Given the description of an element on the screen output the (x, y) to click on. 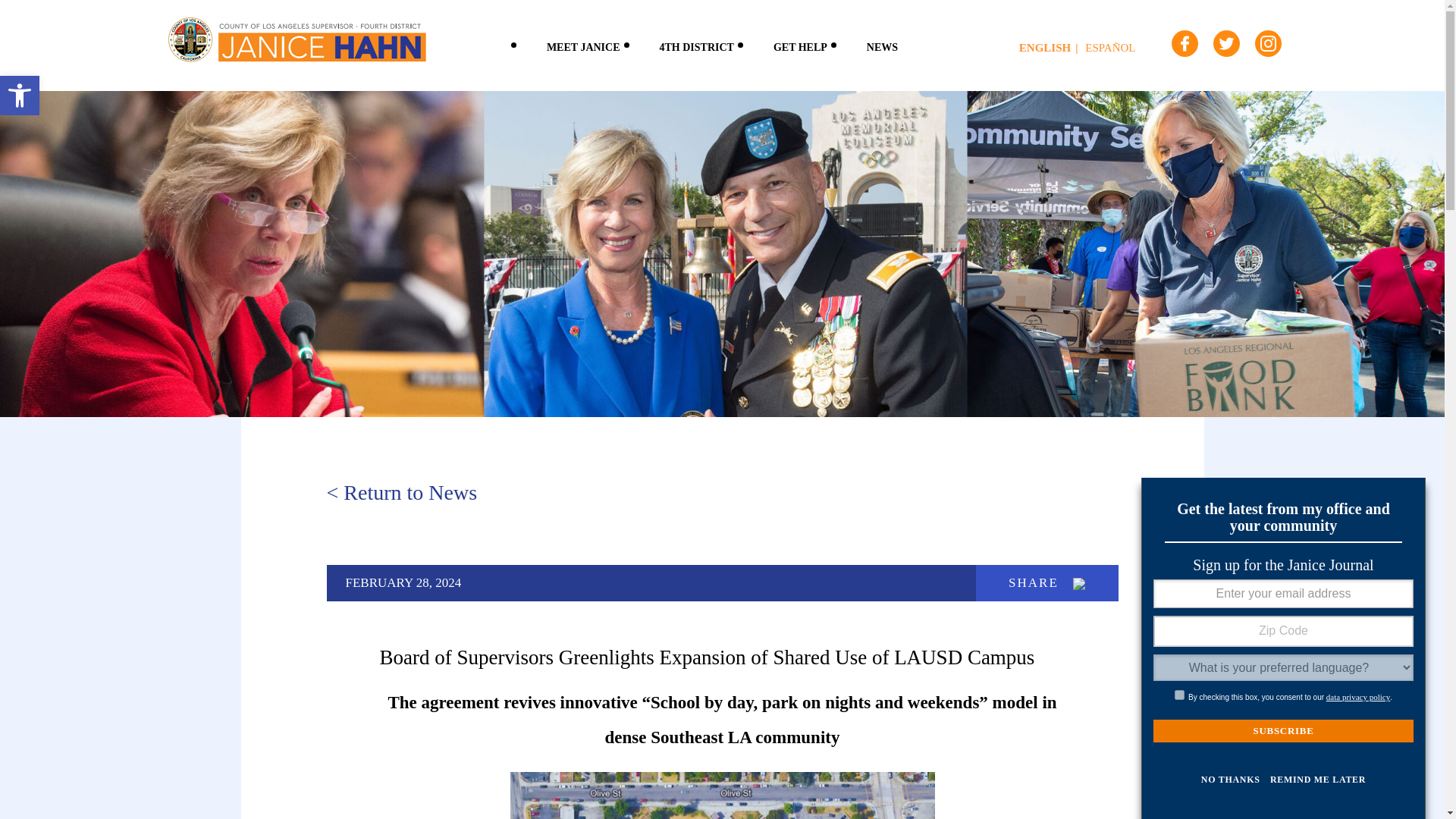
ENGLISH (1051, 47)
Subscribe (1283, 730)
GET HELP (800, 44)
NEWS (19, 95)
Enter your email address (882, 44)
MEET JANICE (1283, 593)
Accessibility Tools (583, 44)
4TH DISTRICT (19, 95)
on (697, 44)
Accessibility Tools (1179, 695)
